Given the description of an element on the screen output the (x, y) to click on. 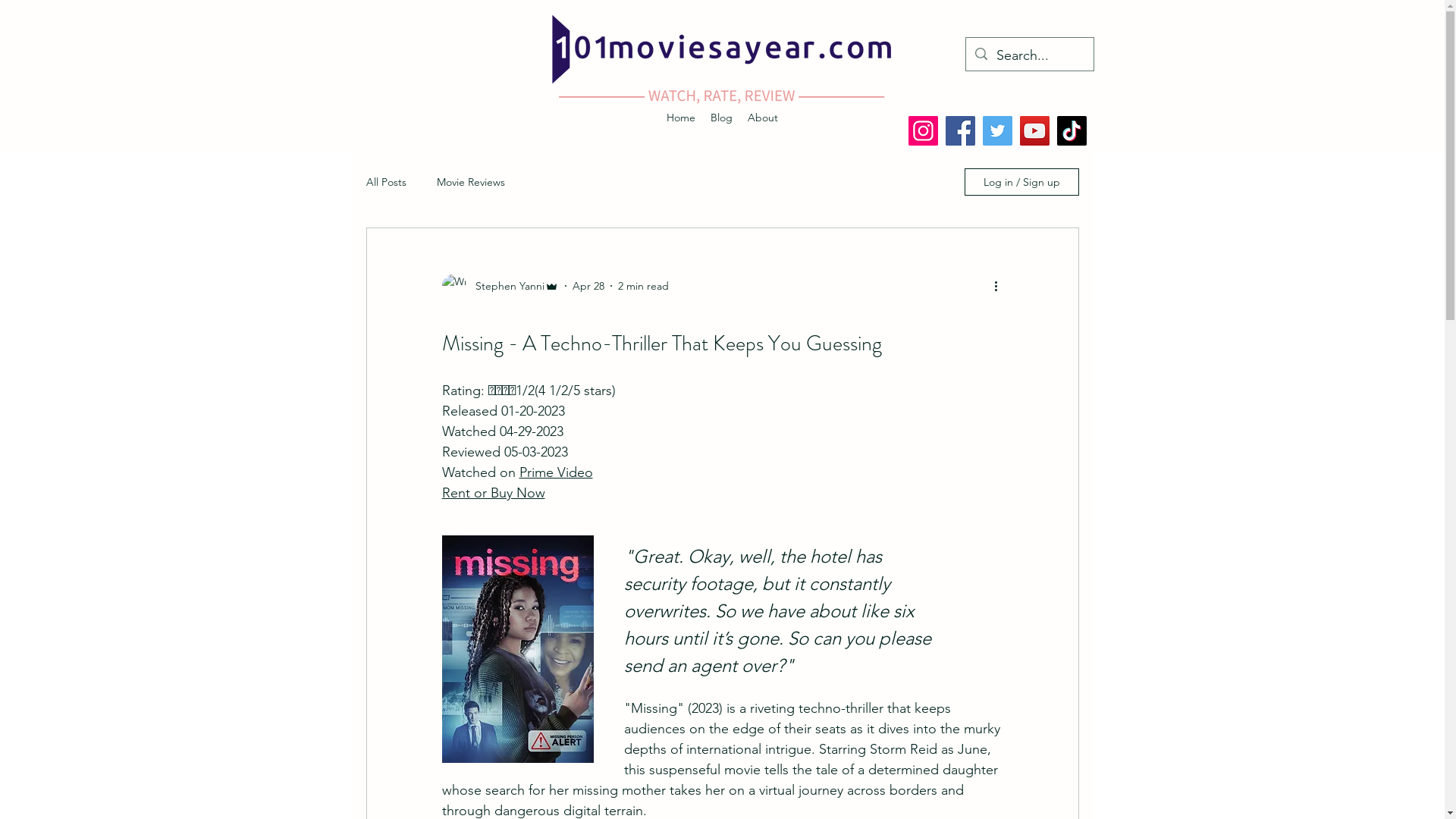
Log in / Sign up Element type: text (1021, 181)
All Posts Element type: text (385, 181)
Rent or Buy Now Element type: text (492, 492)
Like my reviews buy me a slice: Hate them? Buy me two! Element type: hover (449, 121)
Blog Element type: text (721, 117)
Prime Video Element type: text (555, 472)
Movie Reviews Element type: text (470, 181)
About Element type: text (762, 117)
Home Element type: text (680, 117)
